Given the description of an element on the screen output the (x, y) to click on. 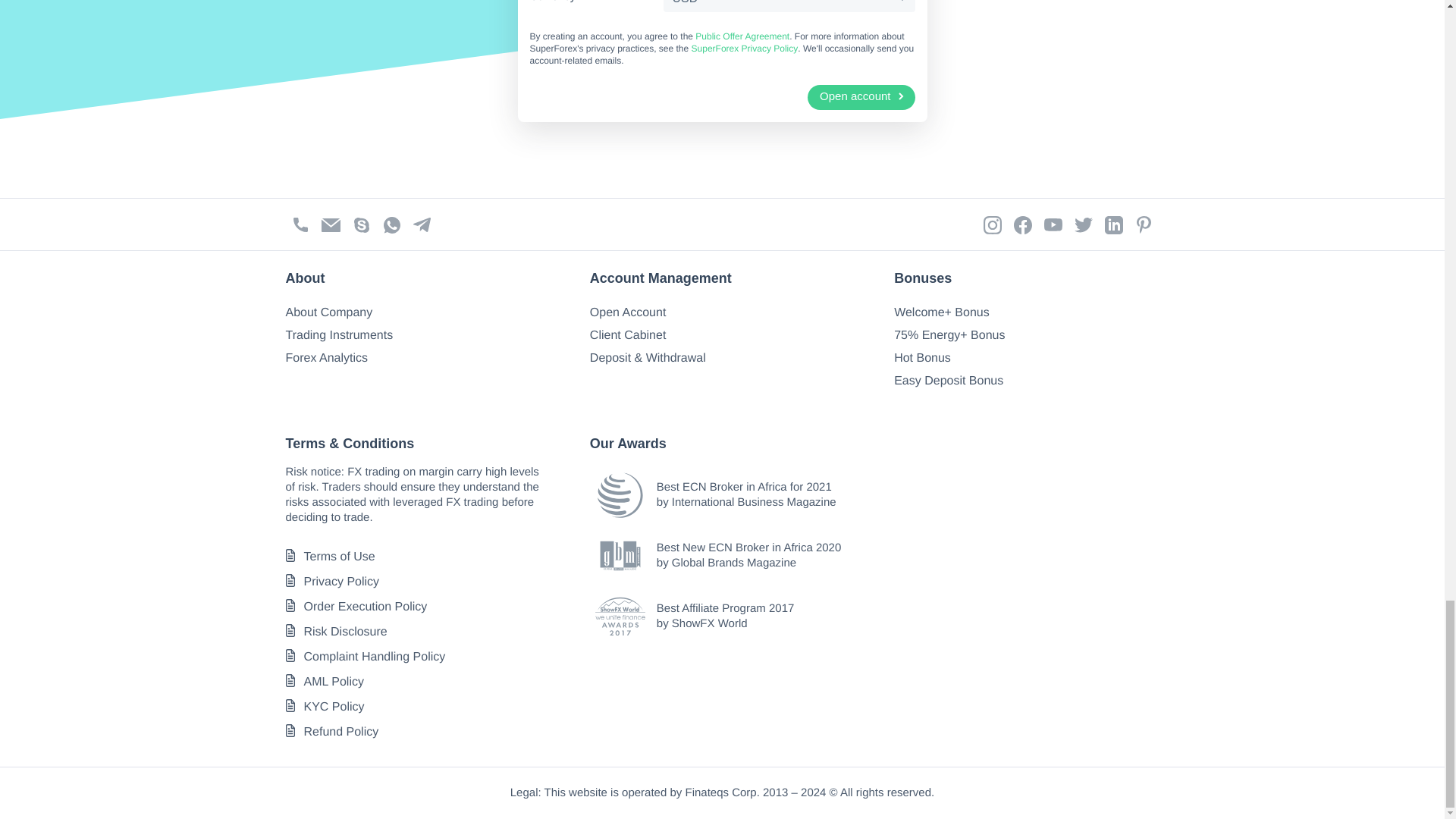
Public Offer Agreement (742, 36)
Forex Analytics (325, 358)
About Company (328, 312)
SuperForex Privacy Policy (744, 48)
Trading Instruments (339, 335)
Open account (861, 97)
Open Account (627, 312)
